Given the description of an element on the screen output the (x, y) to click on. 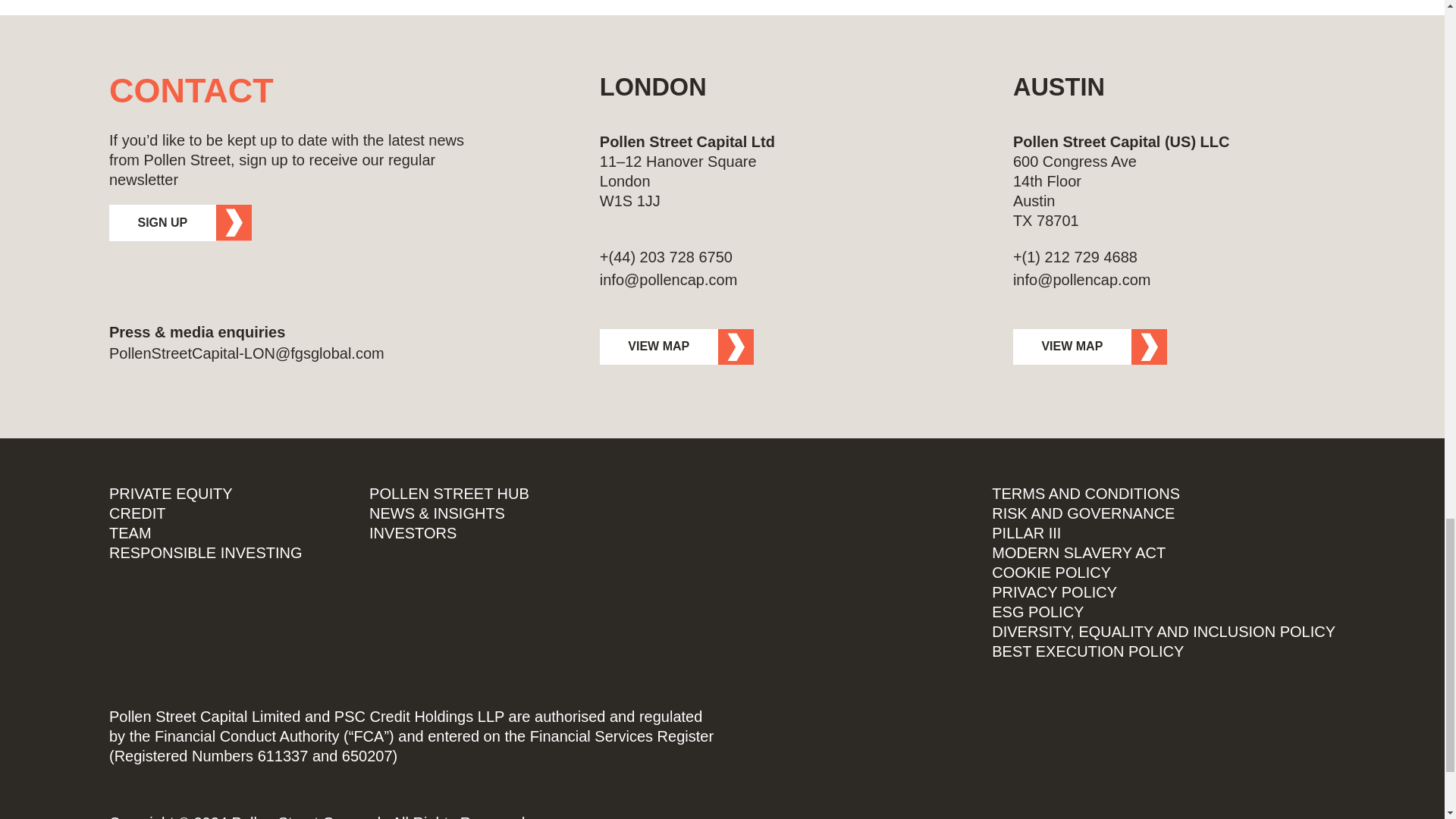
PILLAR III (1026, 532)
CREDIT (137, 513)
VIEW MAP (1090, 347)
INVESTORS (413, 532)
Phone number (760, 256)
RESPONSIBLE INVESTING (205, 552)
TERMS AND CONDITIONS (1085, 493)
SIGN UP (180, 222)
VIEW MAP (676, 347)
Email (760, 279)
